Given the description of an element on the screen output the (x, y) to click on. 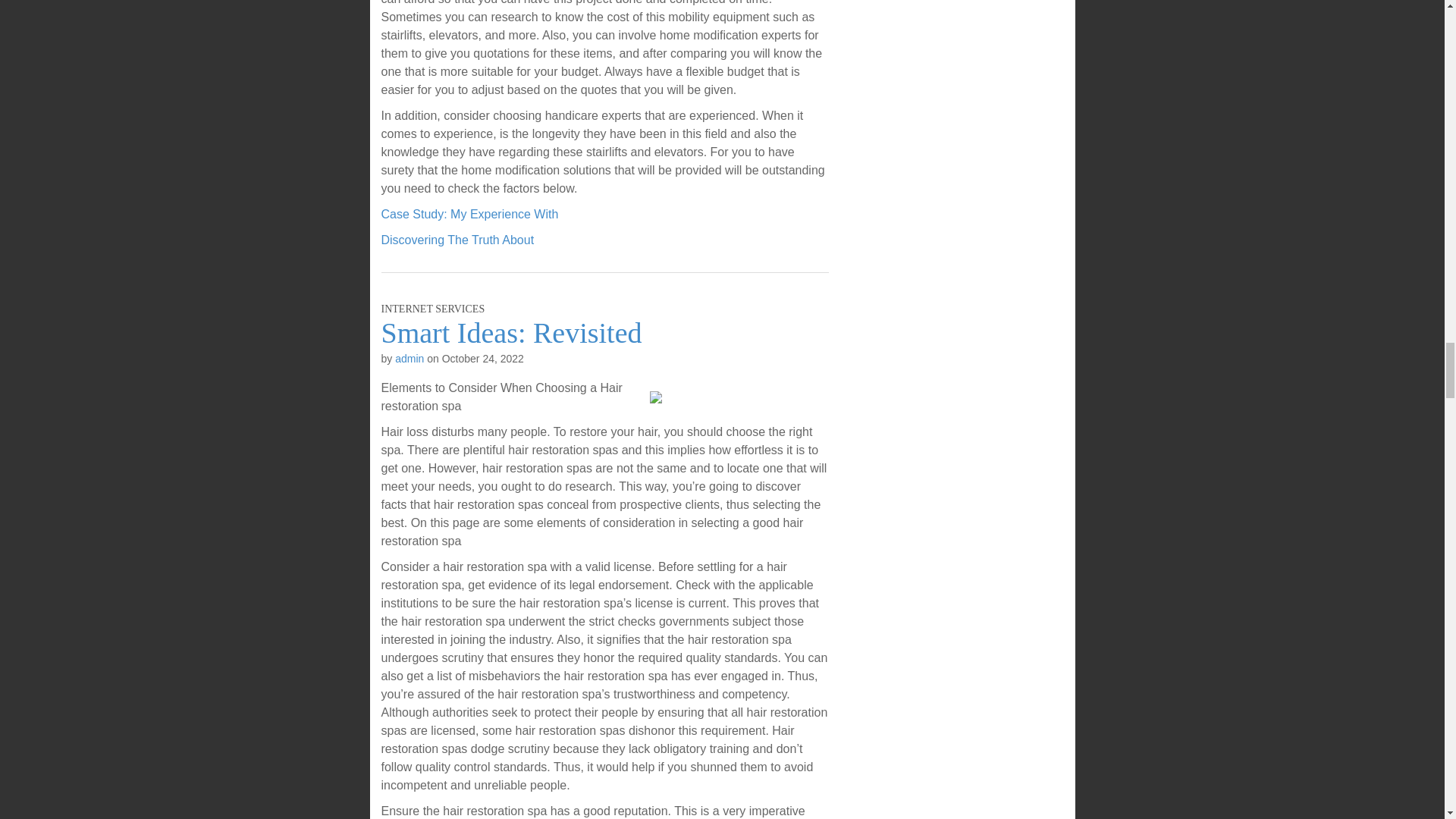
Smart Ideas: Revisited (511, 332)
Posts by admin (408, 358)
October 24, 2022 (483, 358)
Discovering The Truth About (457, 239)
admin (408, 358)
Case Study: My Experience With (468, 214)
INTERNET SERVICES (432, 308)
